Given the description of an element on the screen output the (x, y) to click on. 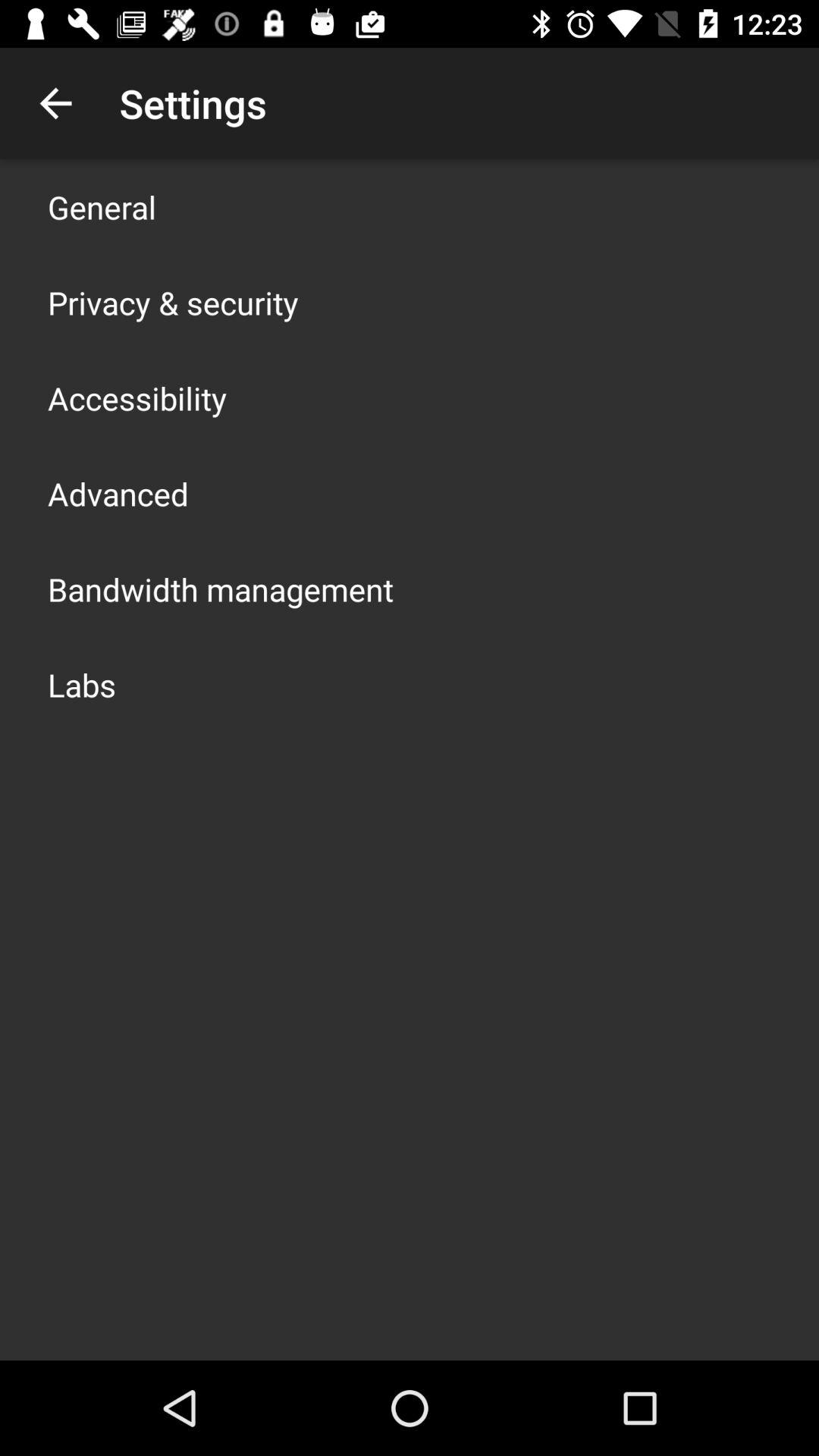
press icon above the bandwidth management (117, 493)
